Given the description of an element on the screen output the (x, y) to click on. 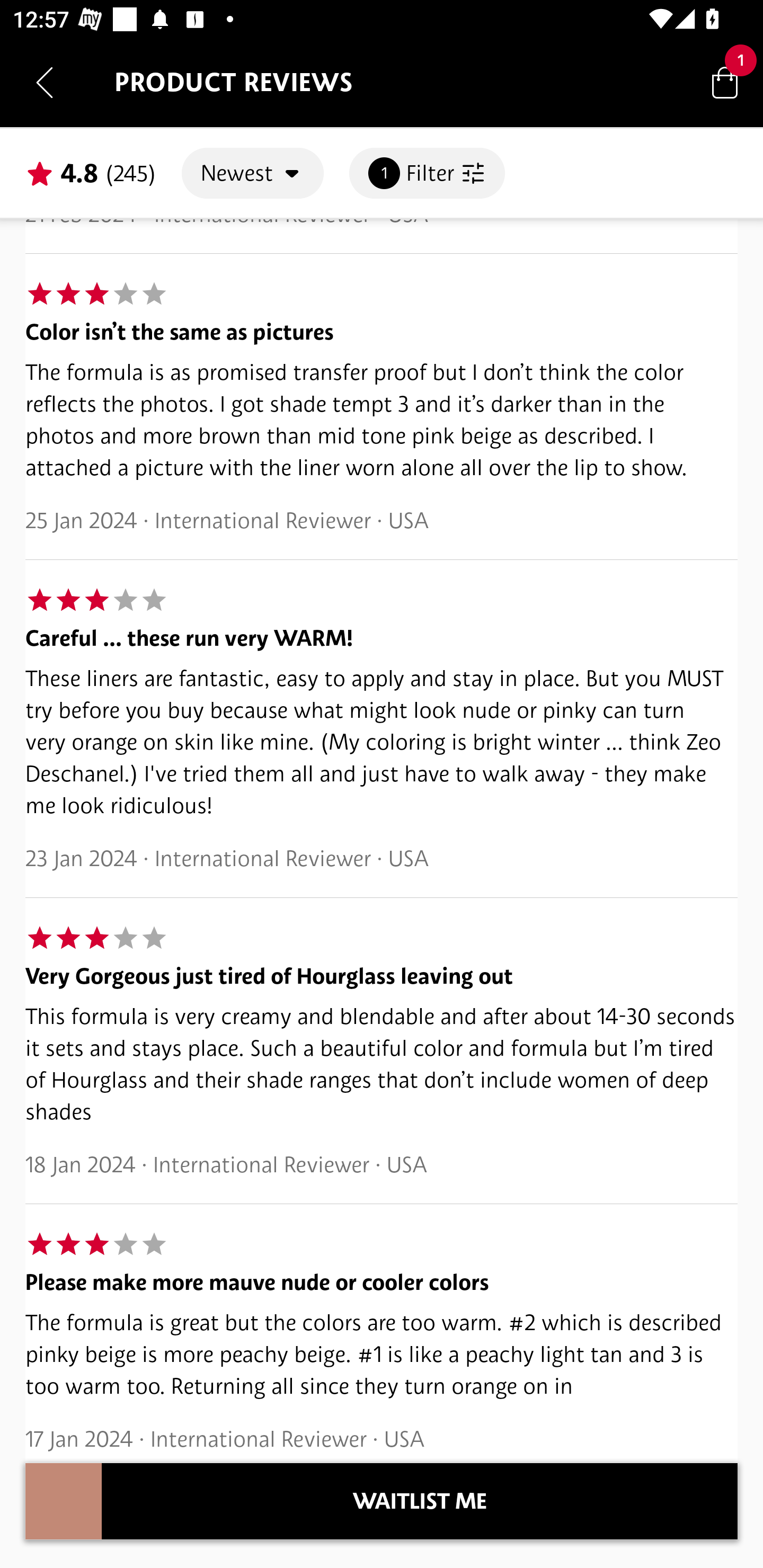
Navigate up (44, 82)
Bag (724, 81)
Newest (252, 173)
1 Filter (427, 173)
WAITLIST ME (419, 1500)
